Given the description of an element on the screen output the (x, y) to click on. 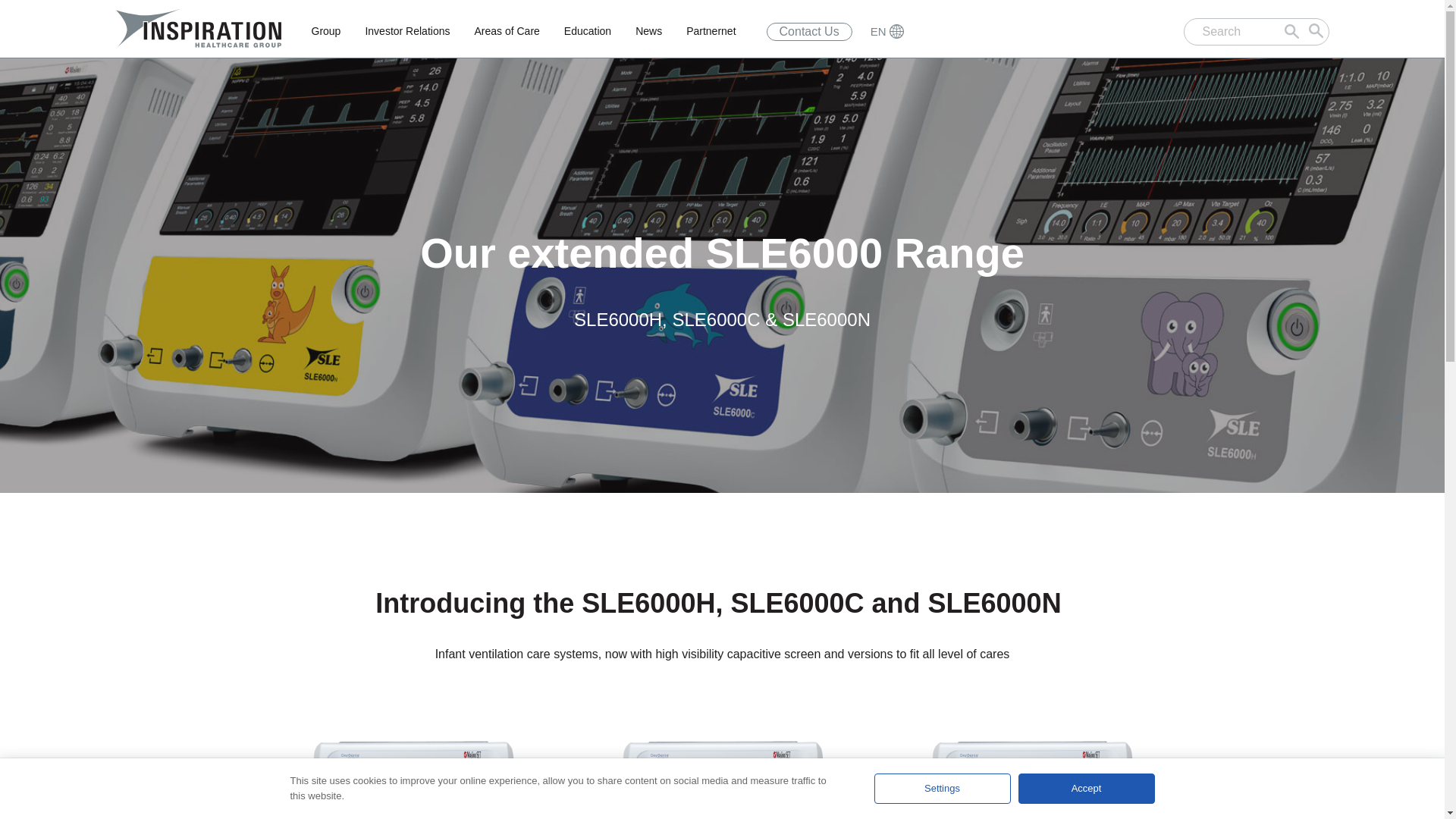
Partnernet (711, 31)
Investor Relations (406, 31)
News (648, 31)
Group (325, 31)
Areas of Care (506, 31)
Education (587, 31)
Contact Us (809, 31)
